Given the description of an element on the screen output the (x, y) to click on. 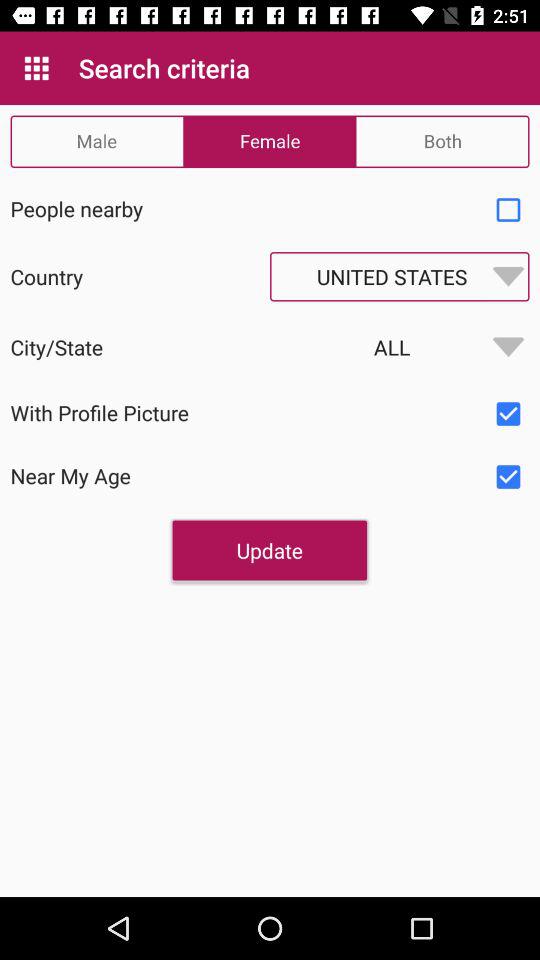
select near my age option (508, 477)
